Given the description of an element on the screen output the (x, y) to click on. 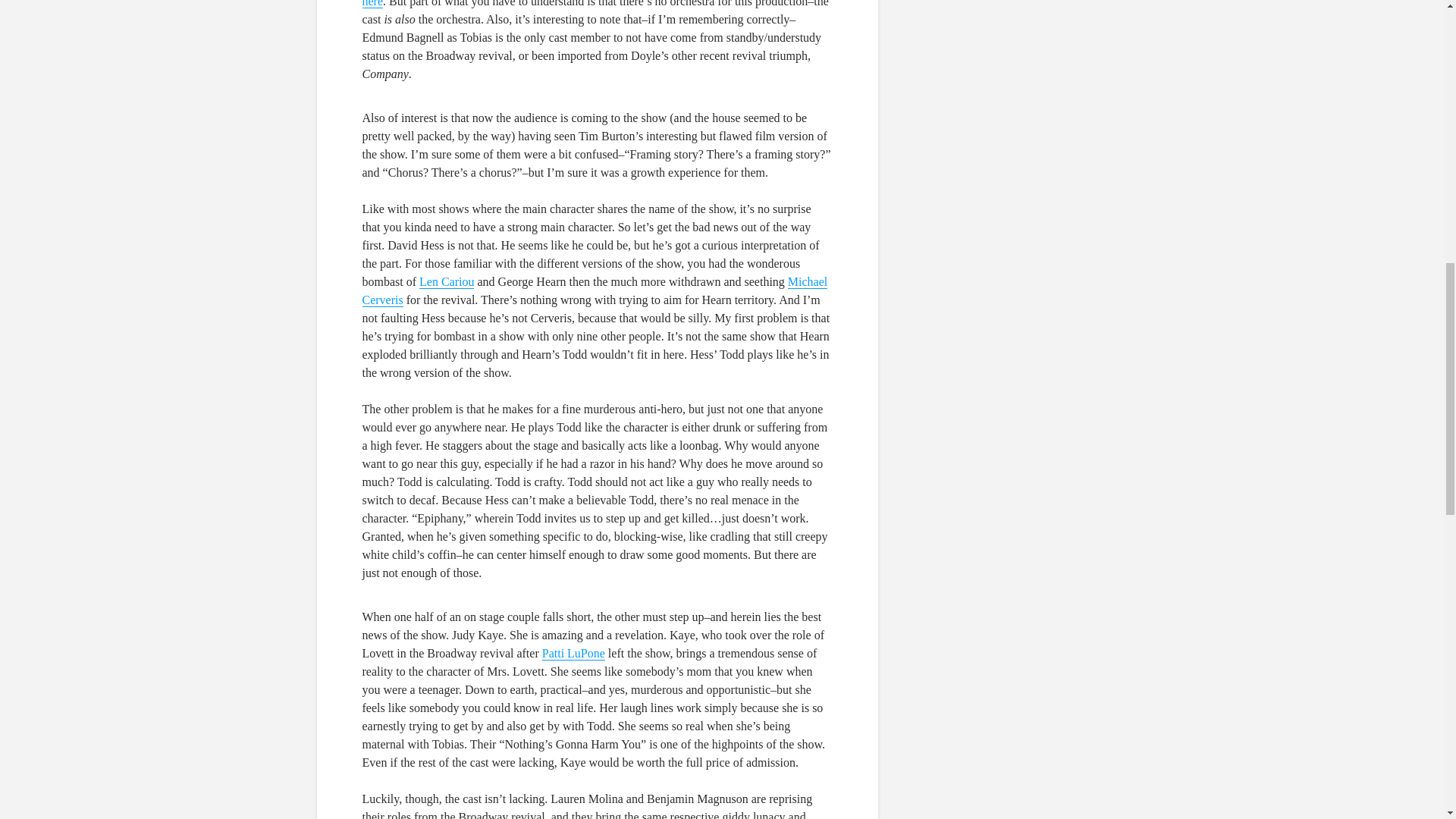
here (373, 4)
Len Cariou (446, 282)
Michael Cerveris (595, 291)
Patti LuPone (573, 653)
